Given the description of an element on the screen output the (x, y) to click on. 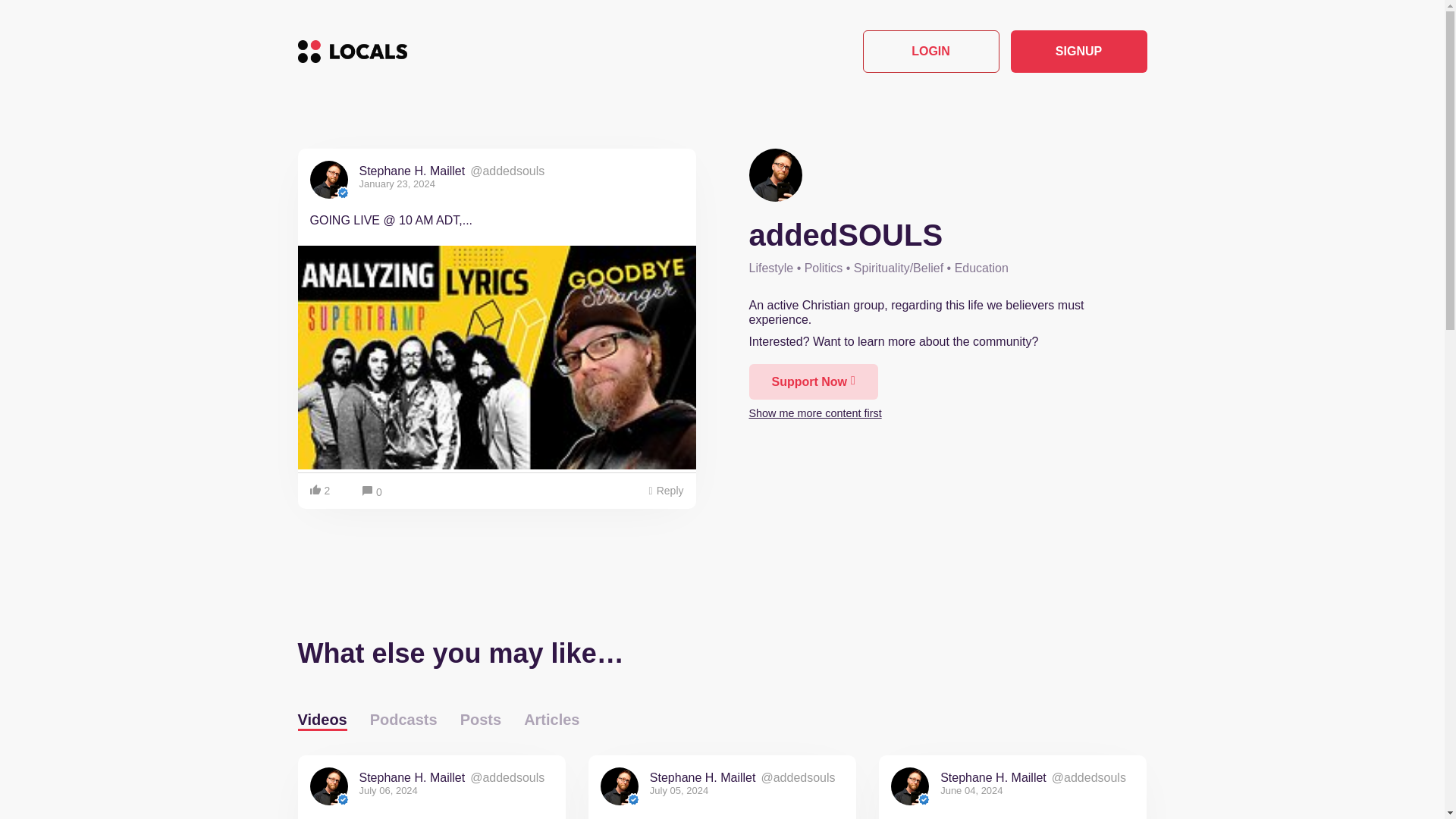
Reply (666, 490)
Show me more content first (815, 411)
Support Now (813, 381)
LOGIN (930, 51)
SIGNUP (1078, 51)
locals.com (351, 51)
0 (372, 492)
2 (321, 490)
